Given the description of an element on the screen output the (x, y) to click on. 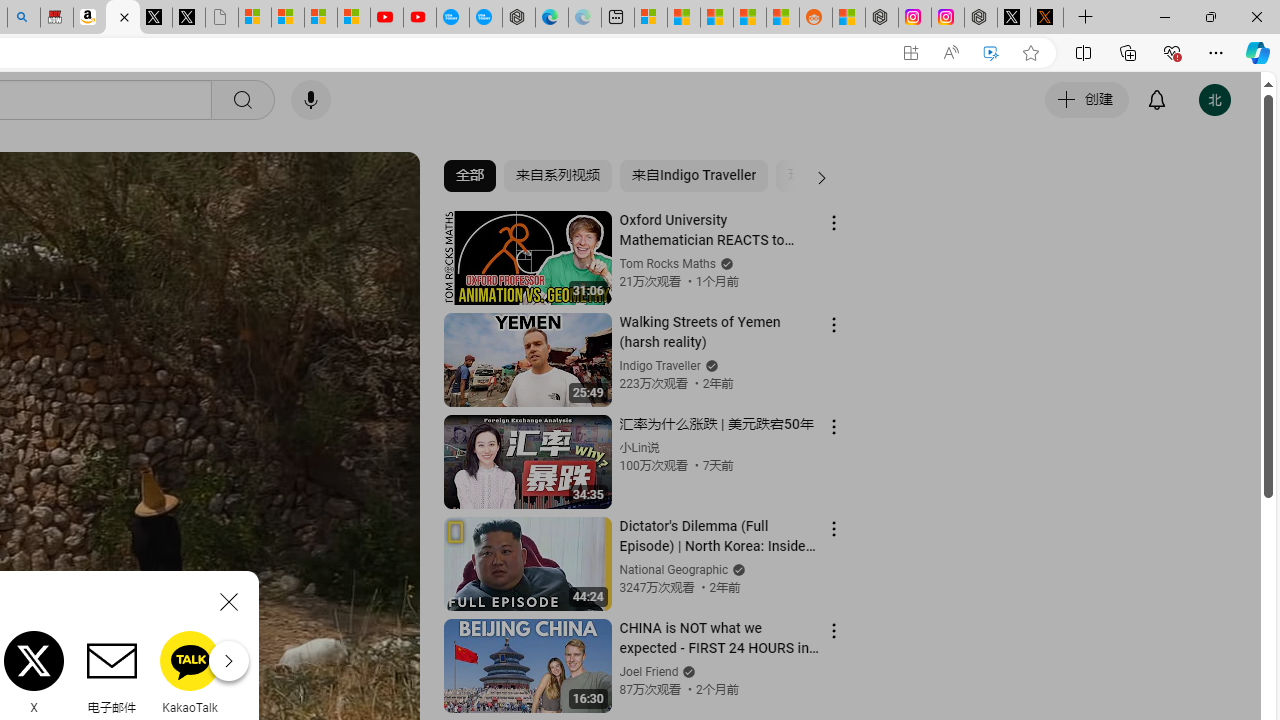
Enhance video (991, 53)
App available. Install YouTube (910, 53)
